Given the description of an element on the screen output the (x, y) to click on. 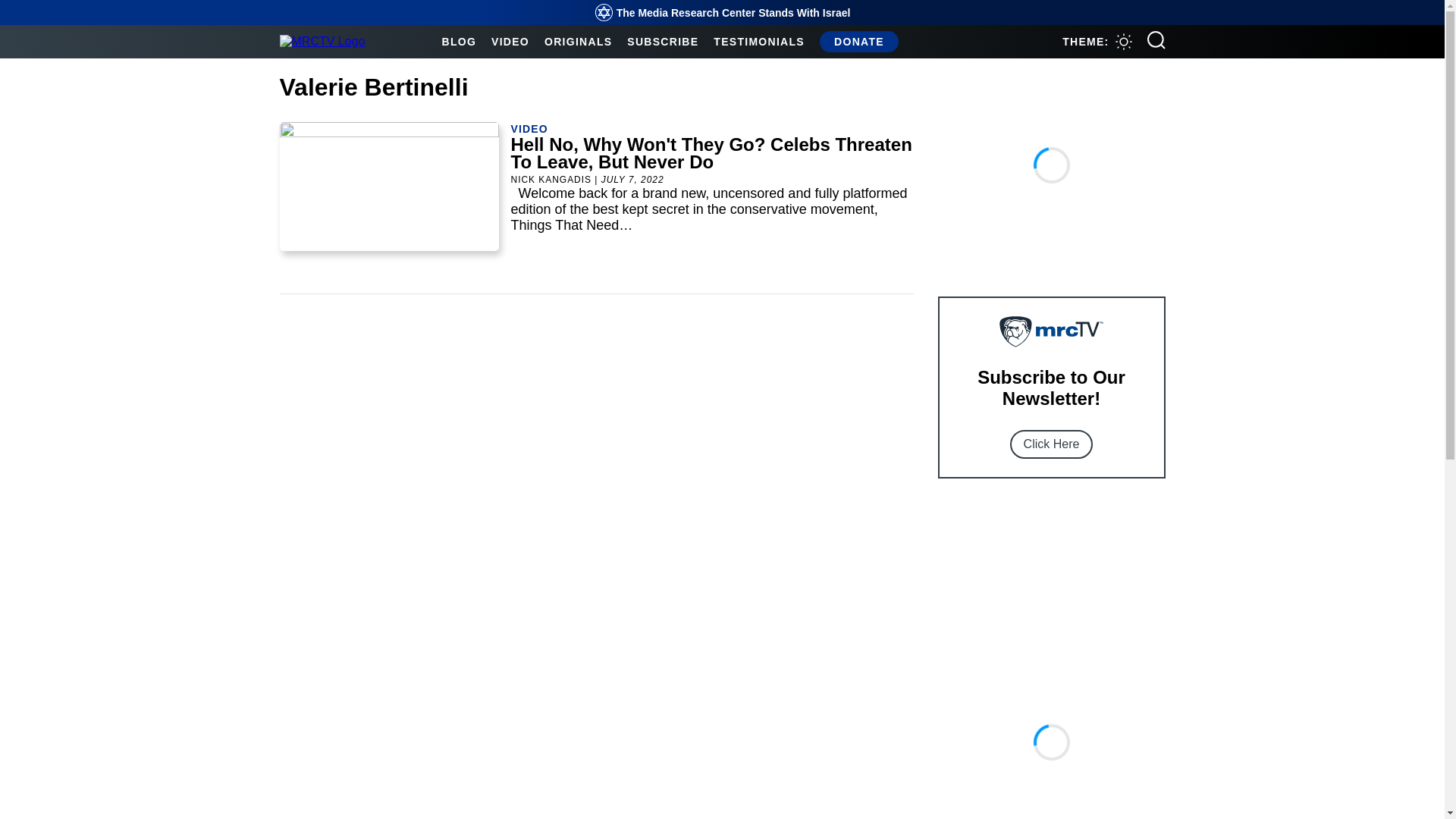
DONATE (858, 41)
SUBSCRIBE (662, 41)
VIDEO (510, 41)
TESTIMONIALS (759, 41)
ORIGINALS (577, 41)
NICK KANGADIS (551, 179)
BLOG (458, 41)
THEME: (1096, 41)
Click Here (1051, 443)
